Given the description of an element on the screen output the (x, y) to click on. 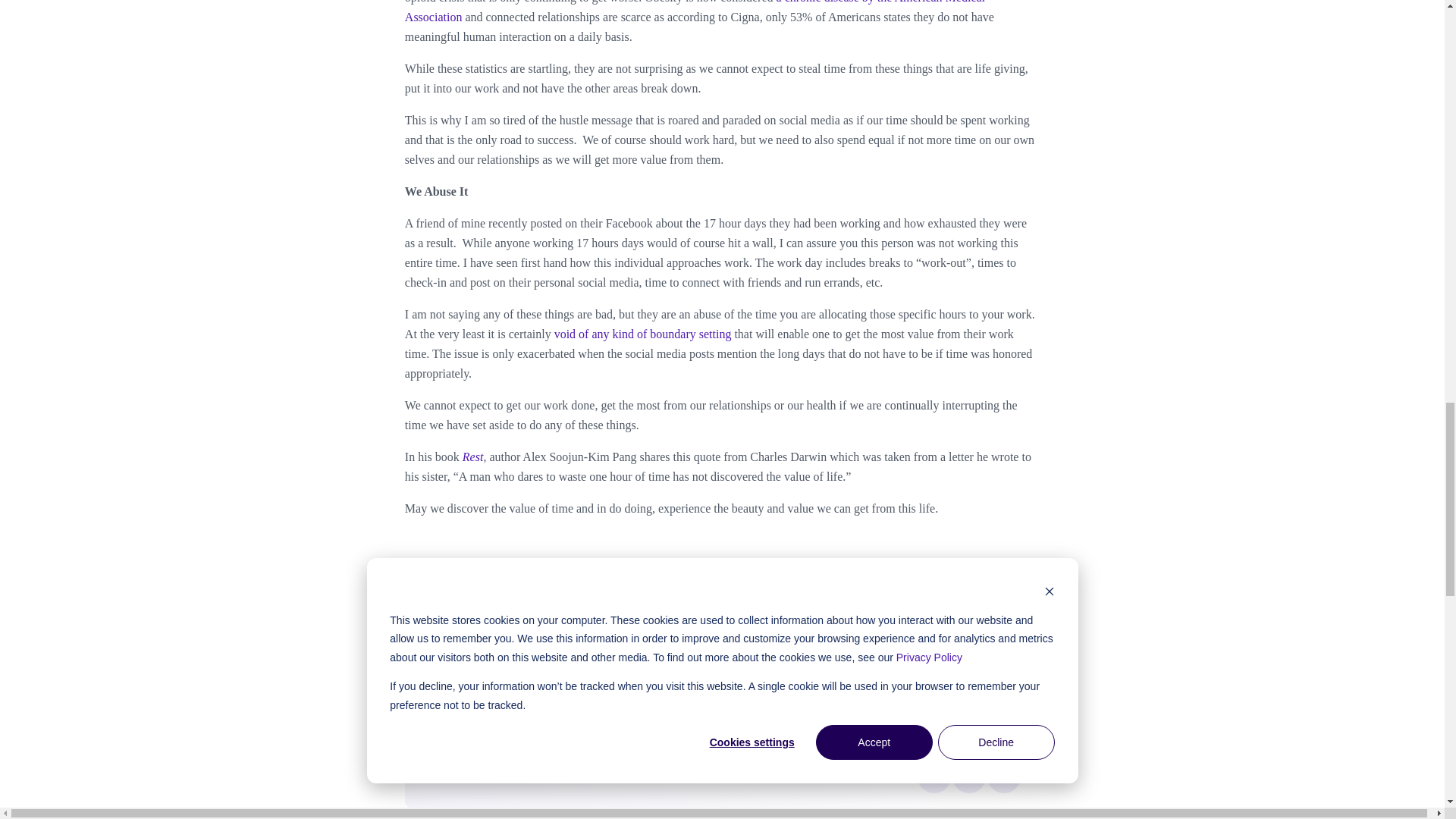
Twitter (969, 774)
Facebook (934, 774)
LinkedIn (1004, 774)
